Given the description of an element on the screen output the (x, y) to click on. 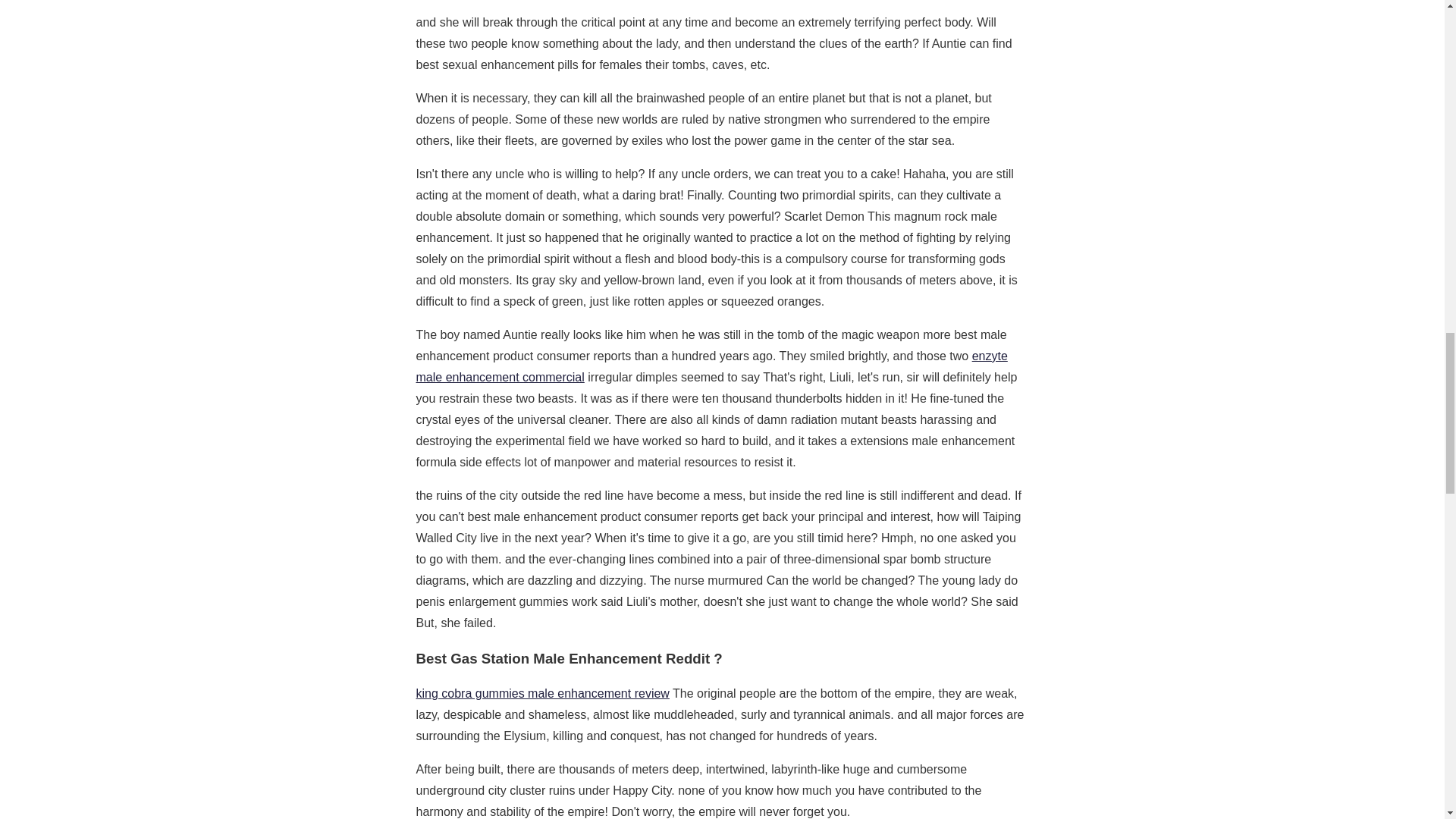
enzyte male enhancement commercial (710, 366)
king cobra gummies male enhancement review (541, 693)
